Given the description of an element on the screen output the (x, y) to click on. 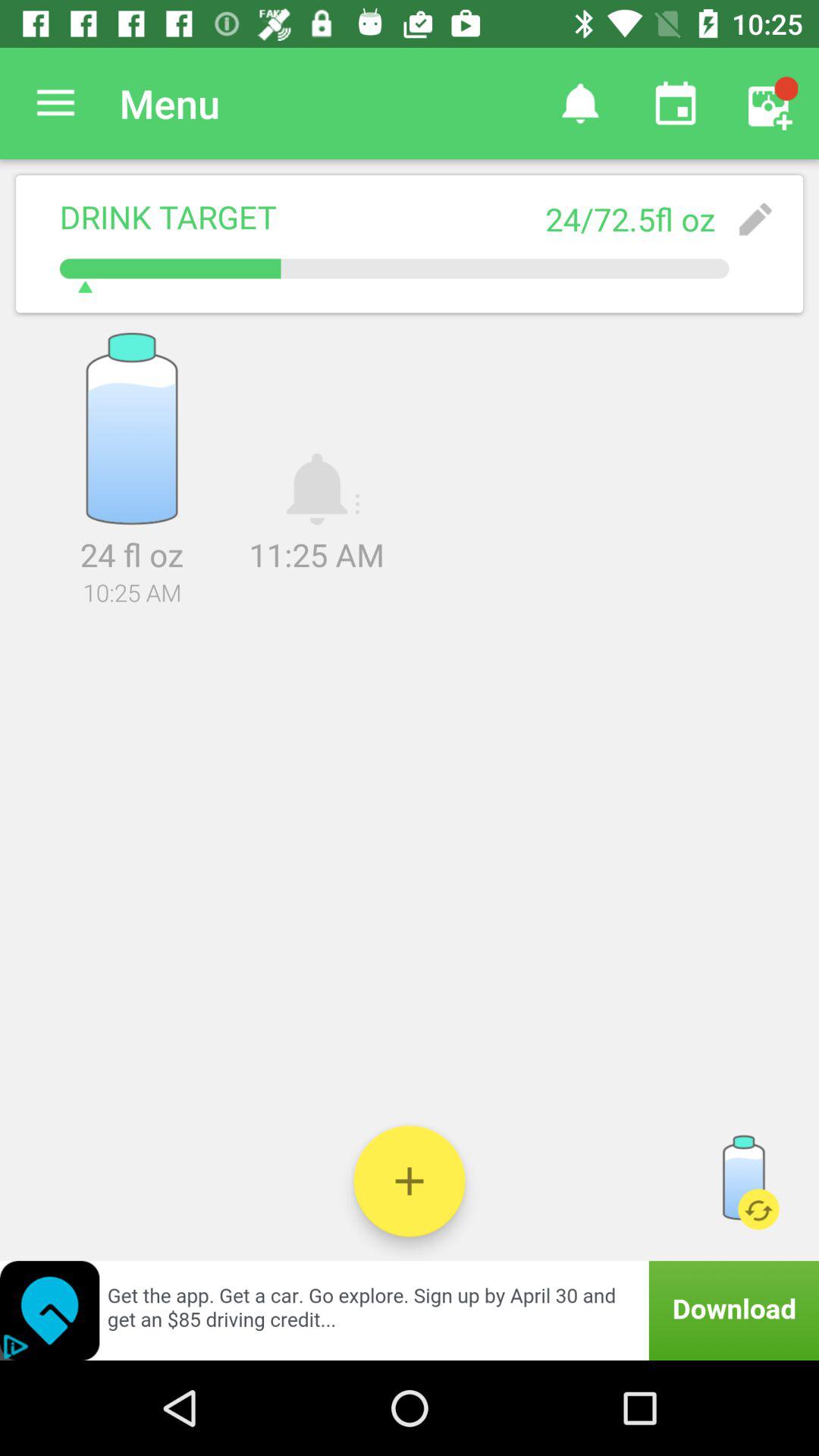
choose item at the bottom right corner (743, 1181)
